Given the description of an element on the screen output the (x, y) to click on. 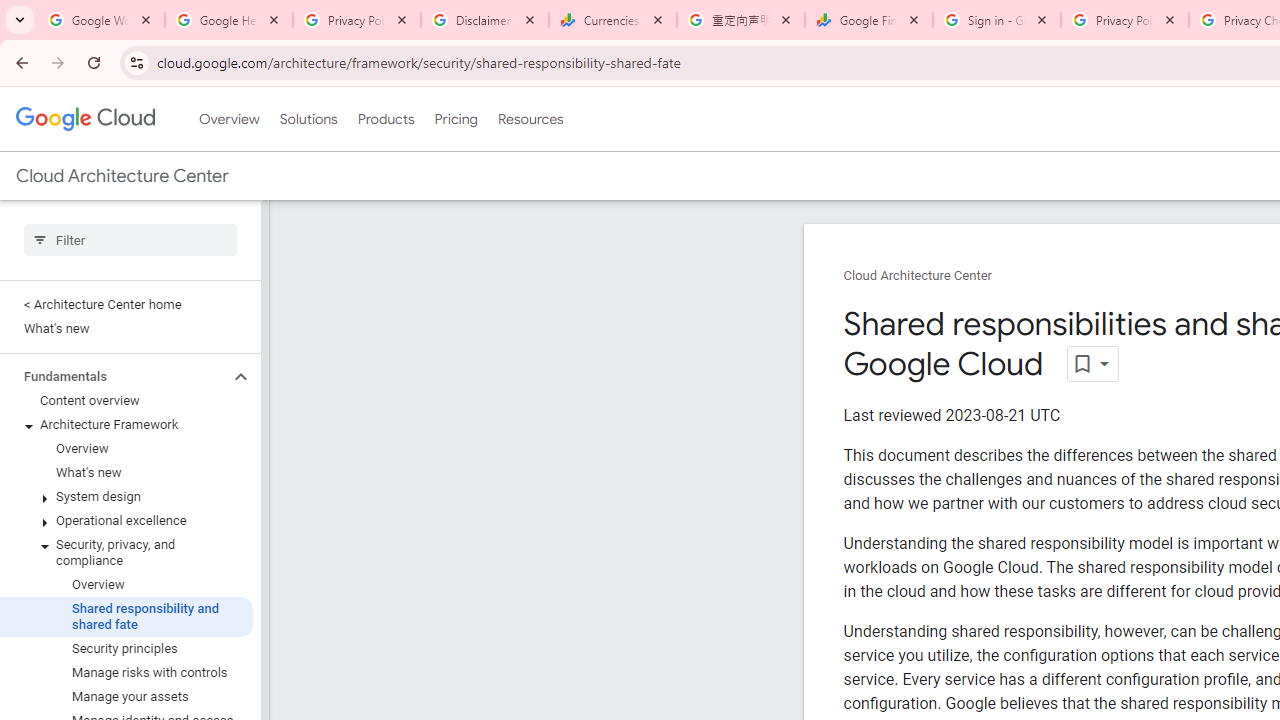
System design (126, 497)
Shared responsibility and shared fate (126, 616)
Pricing (455, 119)
Manage risks with controls (126, 672)
Security principles (126, 648)
< Architecture Center home (126, 304)
Content overview (126, 400)
Fundamentals (114, 376)
